Given the description of an element on the screen output the (x, y) to click on. 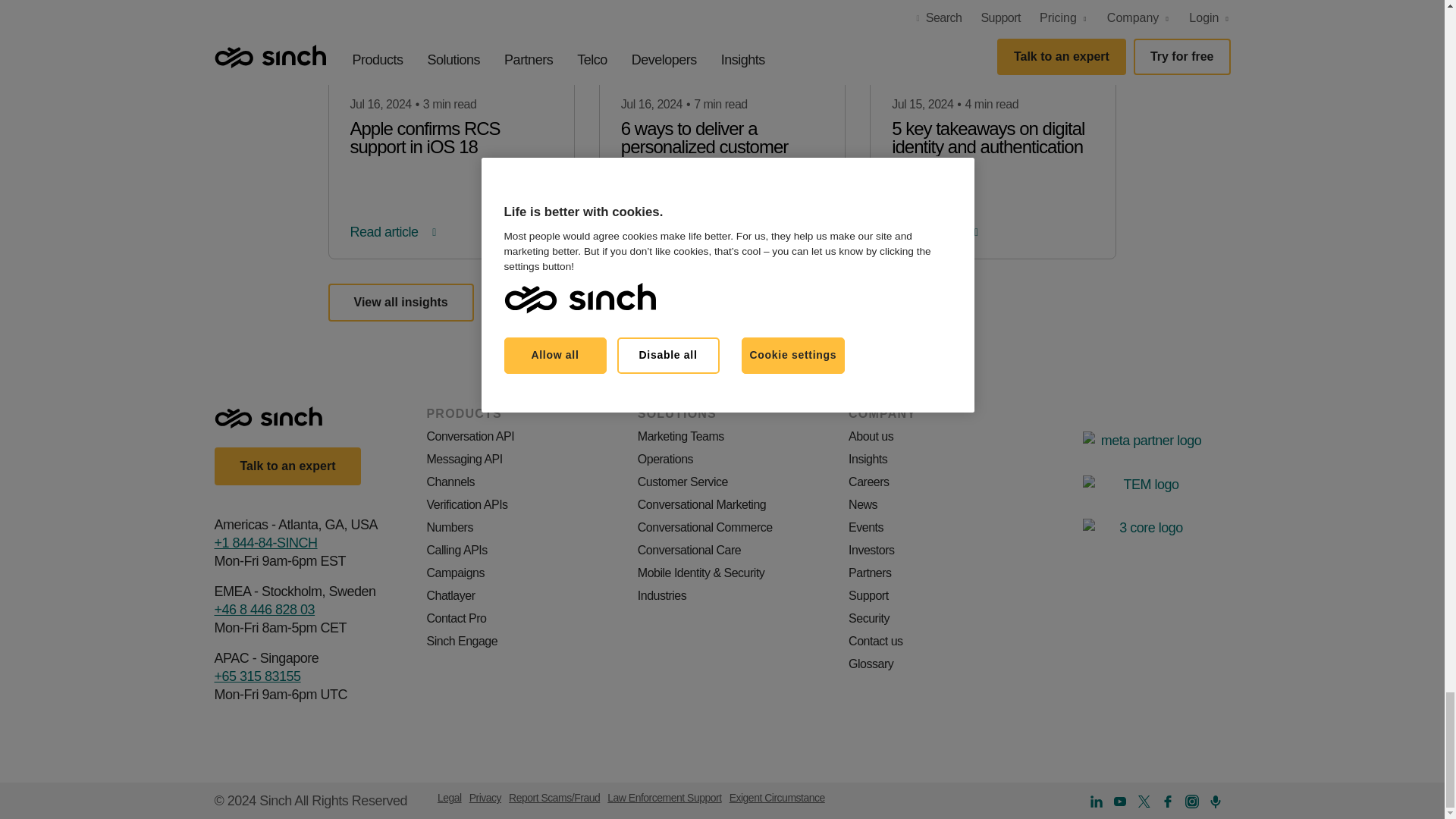
Home (270, 417)
